Given the description of an element on the screen output the (x, y) to click on. 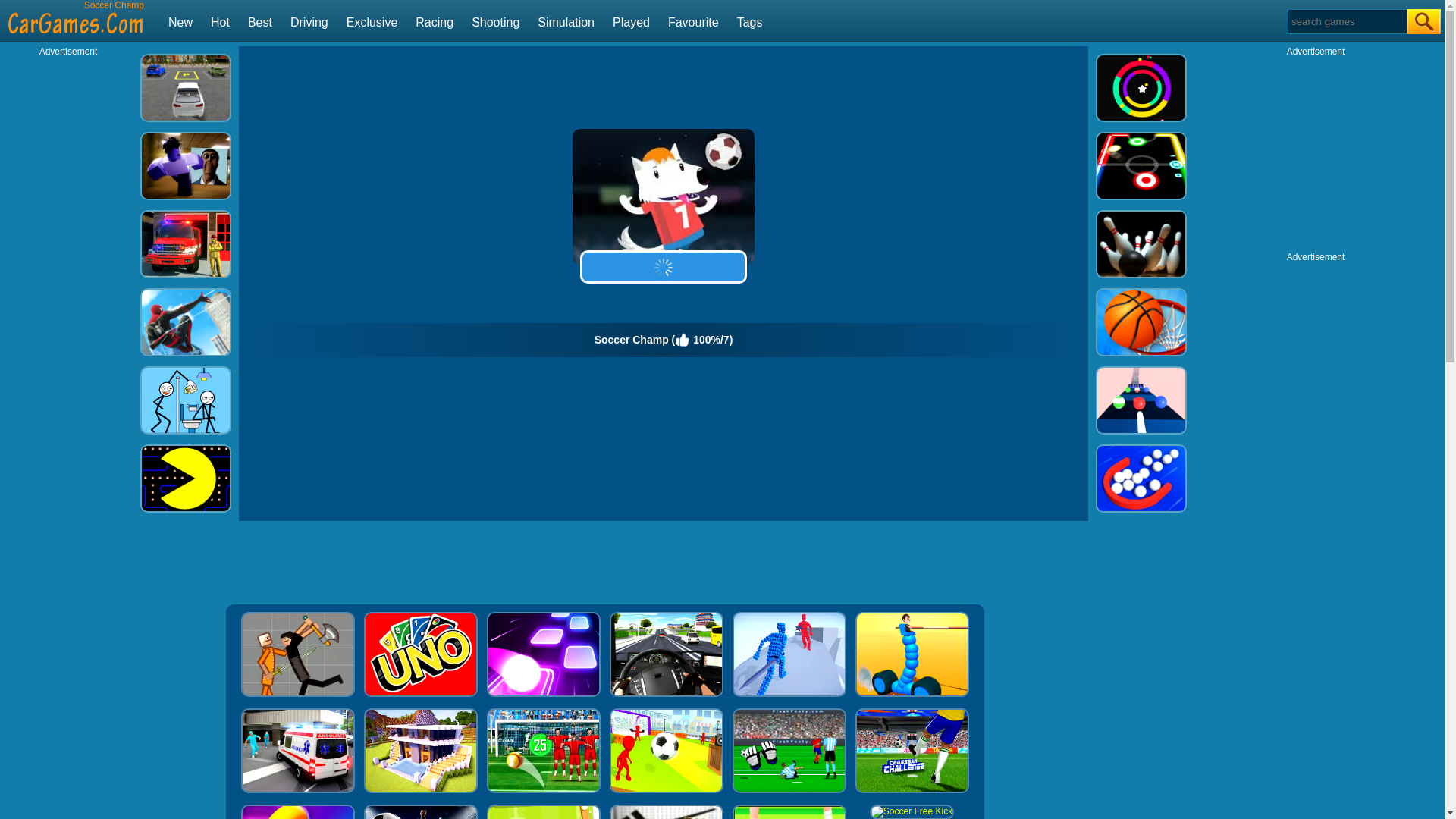
Simulation (565, 21)
Favourite (693, 21)
Best (259, 21)
Shooting (495, 21)
Driving (309, 21)
Racing (433, 21)
Hot (220, 21)
Exclusive (371, 21)
Played (630, 21)
New (180, 21)
